Given the description of an element on the screen output the (x, y) to click on. 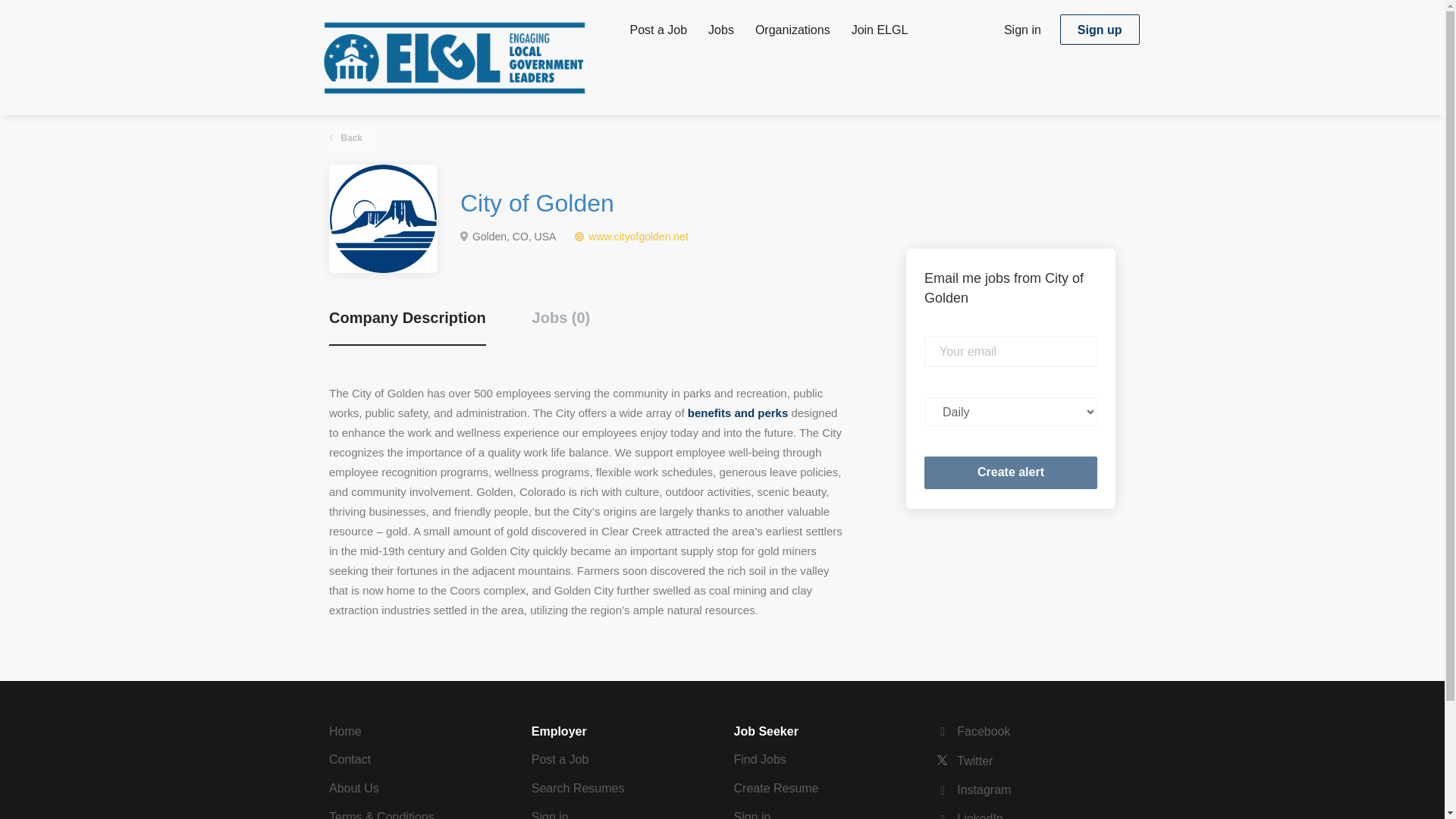
Sign in (752, 814)
Create Resume (775, 788)
Contact (350, 758)
benefits and perks (738, 412)
Back (353, 137)
Twitter (964, 760)
Jobs (720, 32)
Company Description (407, 326)
Sign in (550, 814)
Join ELGL (879, 32)
Find Jobs (759, 758)
www.cityofgolden.net (638, 236)
Organizations (792, 32)
Post a Job (560, 758)
Home (345, 730)
